Given the description of an element on the screen output the (x, y) to click on. 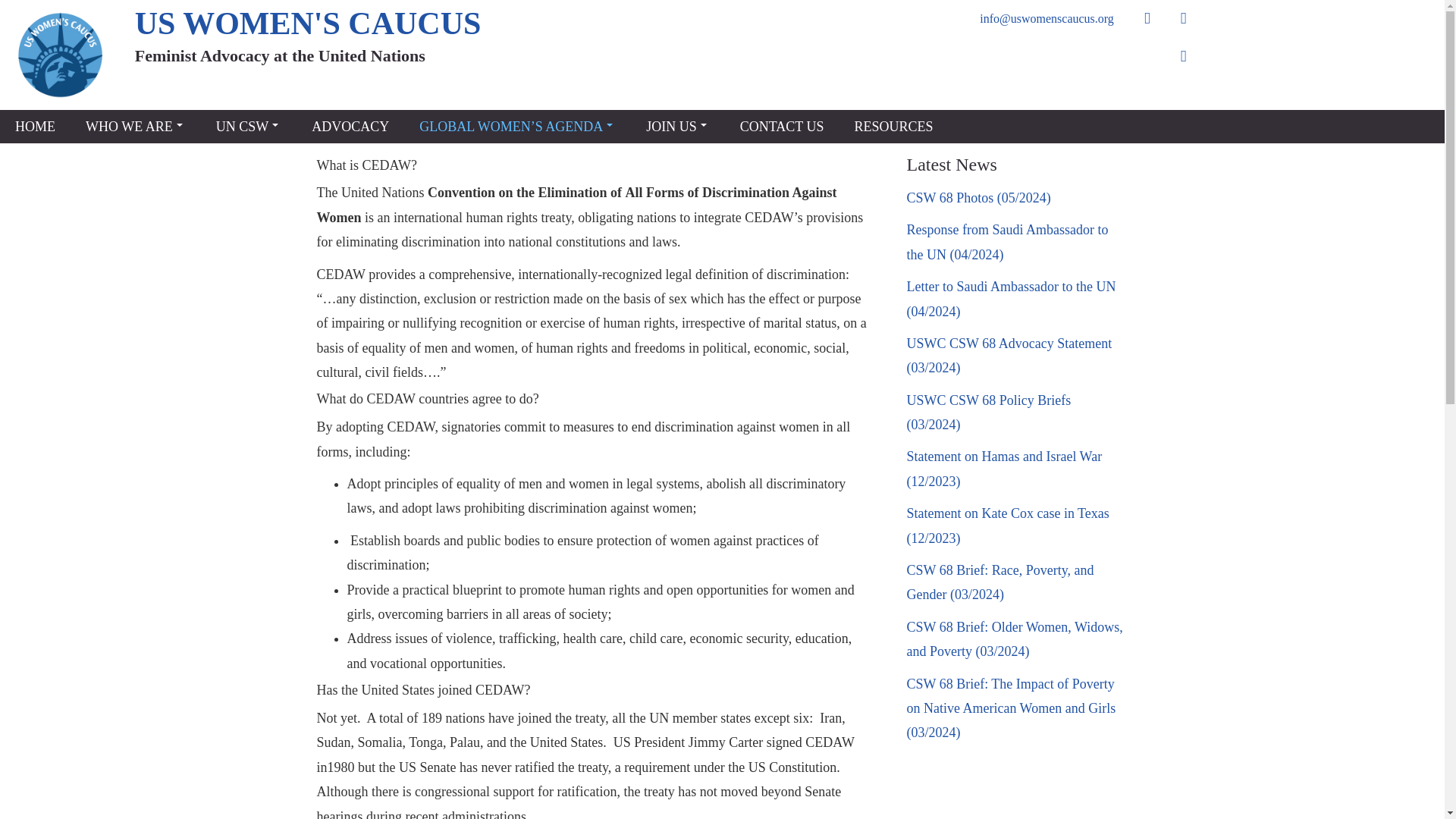
RESOURCES (892, 126)
UN CSW (248, 126)
JOIN US (677, 126)
YouTube (1184, 56)
ADVOCACY (350, 126)
Facebook (1147, 18)
WHO WE ARE (134, 126)
HOME (34, 126)
US WOMEN'S CAUCUS (308, 23)
CONTACT US (782, 126)
Twitter (1184, 18)
